Given the description of an element on the screen output the (x, y) to click on. 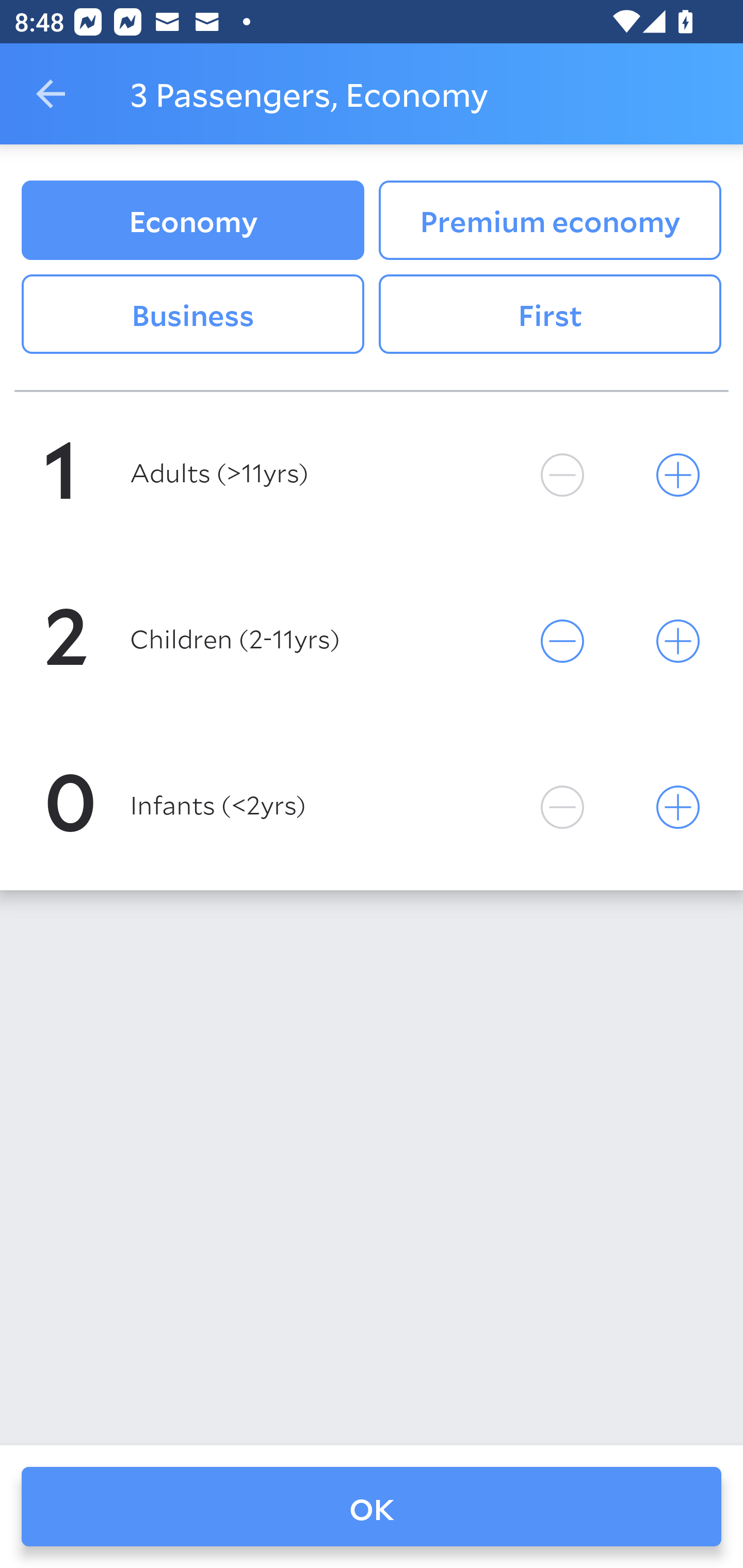
Navigate up (50, 93)
Economy (192, 220)
Premium economy (549, 220)
Business (192, 314)
First (549, 314)
OK (371, 1506)
